Given the description of an element on the screen output the (x, y) to click on. 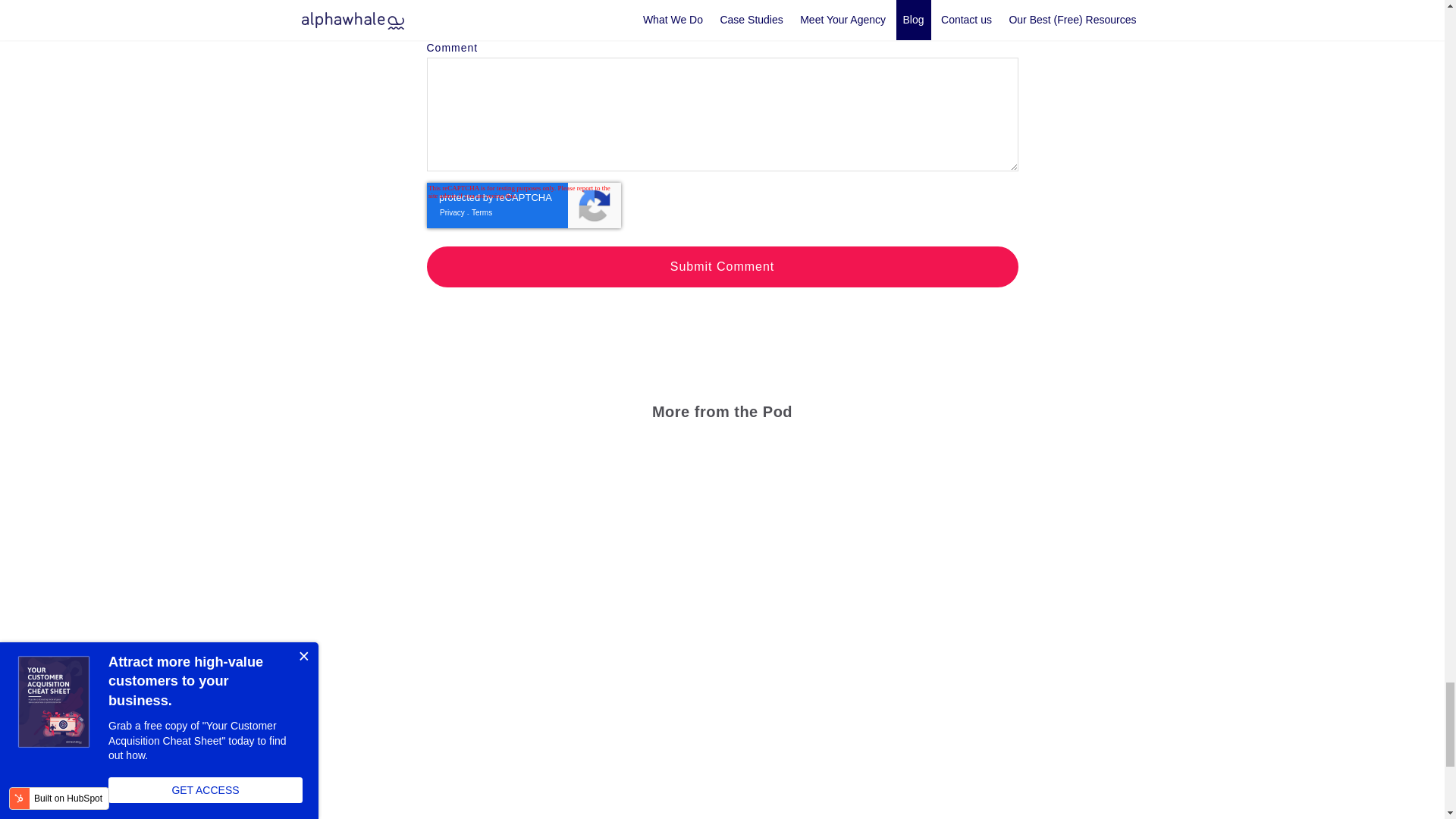
reCAPTCHA (523, 239)
Submit Comment (721, 266)
